Given the description of an element on the screen output the (x, y) to click on. 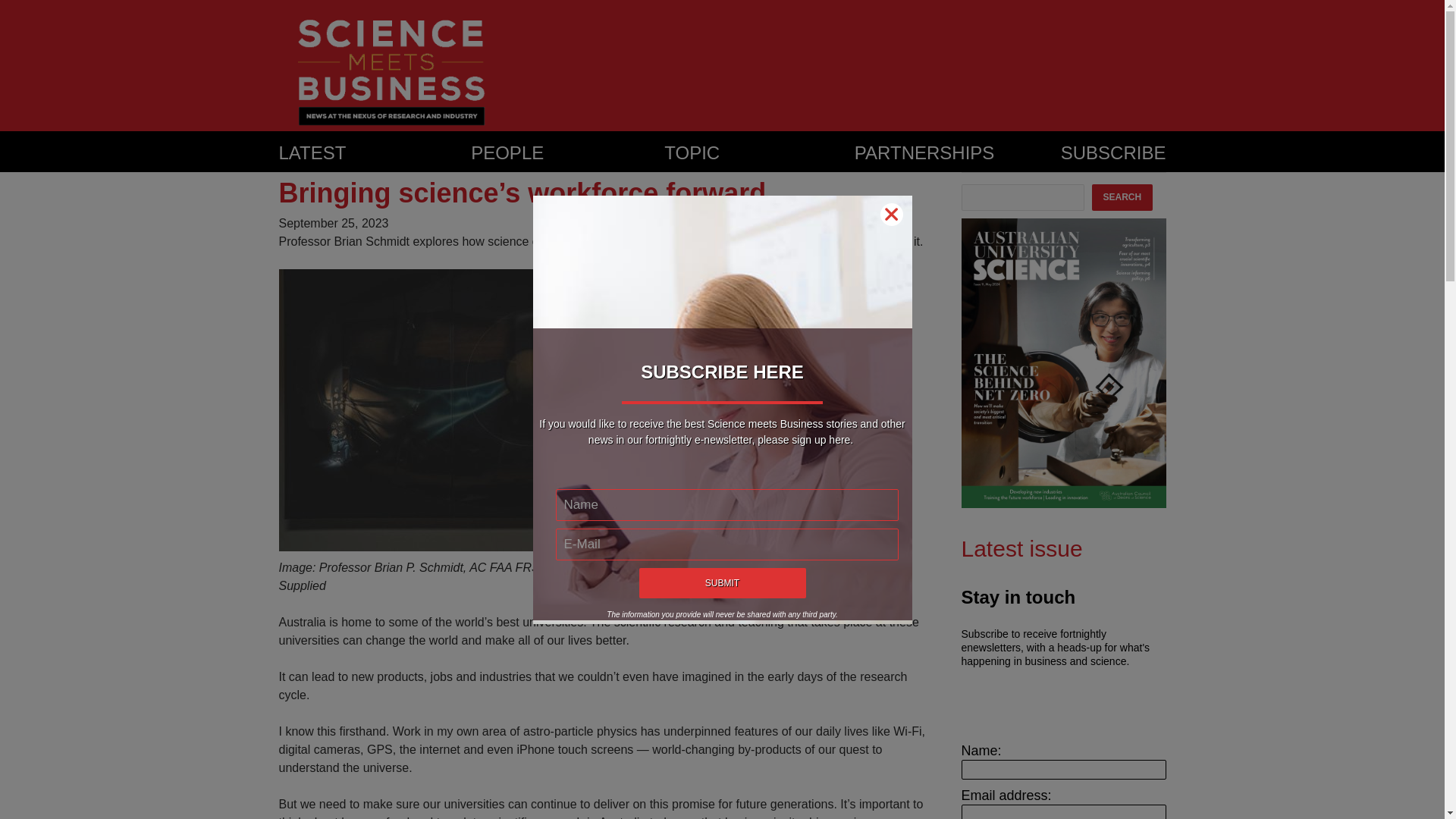
PARTNERSHIPS (957, 152)
TOPIC (758, 152)
Search (1122, 197)
LATEST (375, 152)
Search (1122, 197)
SUBSCRIBE (1113, 152)
PEOPLE (566, 152)
Submit (722, 582)
3rd party ad content (861, 54)
